Given the description of an element on the screen output the (x, y) to click on. 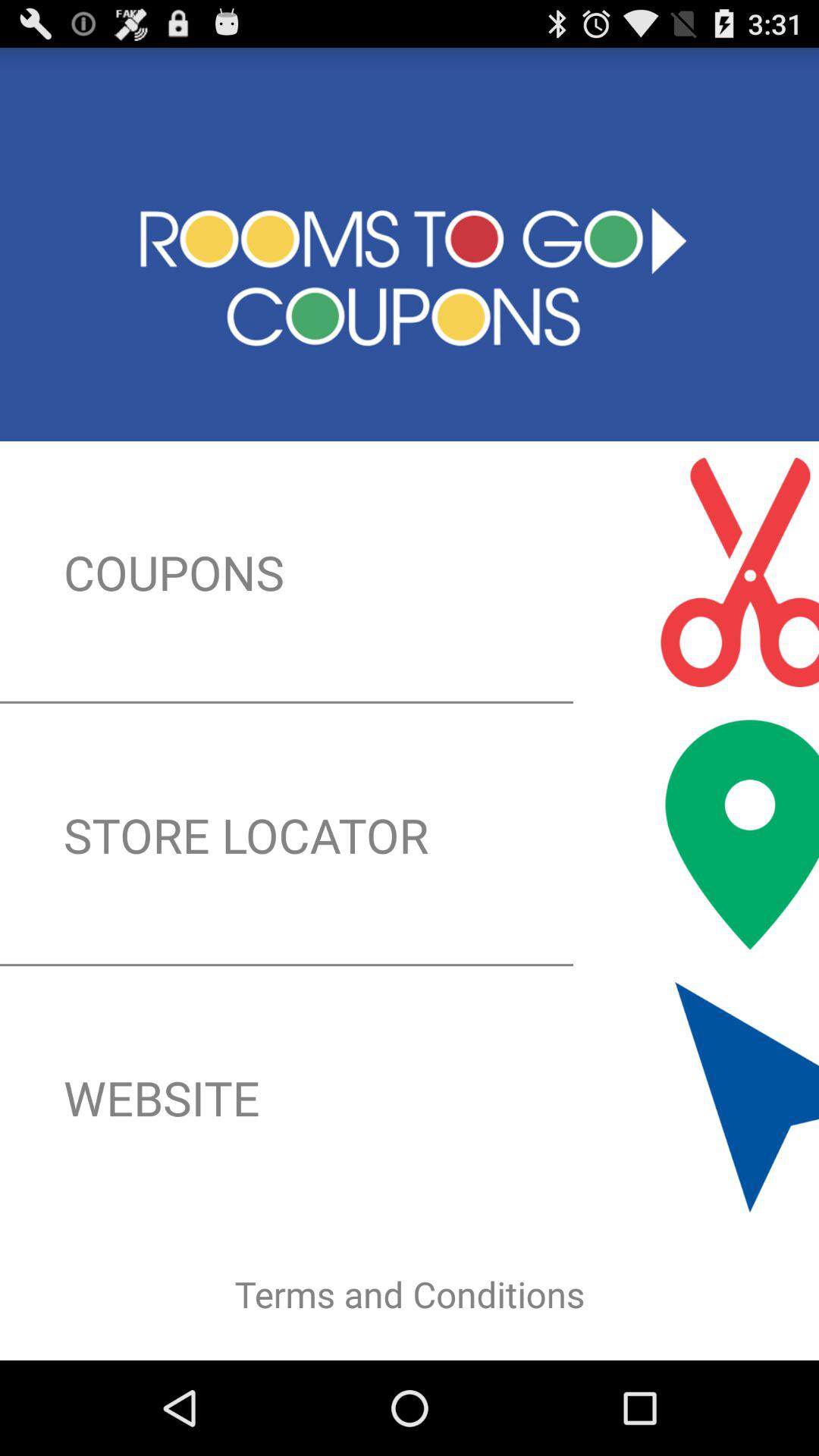
turn off website item (409, 1097)
